Given the description of an element on the screen output the (x, y) to click on. 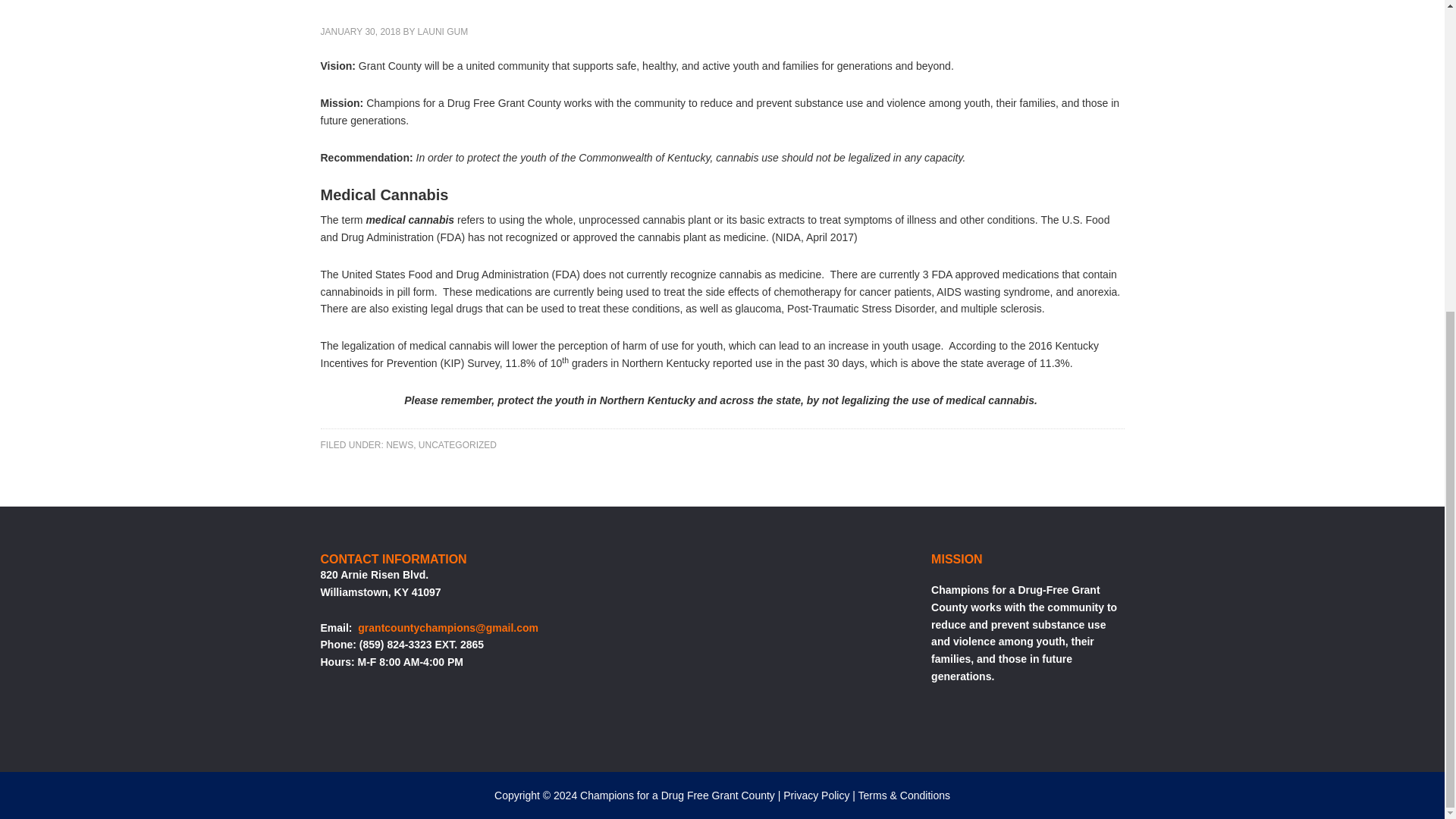
Privacy Policy (815, 795)
NEWS (399, 444)
UNCATEGORIZED (457, 444)
LAUNI GUM (442, 31)
